Given the description of an element on the screen output the (x, y) to click on. 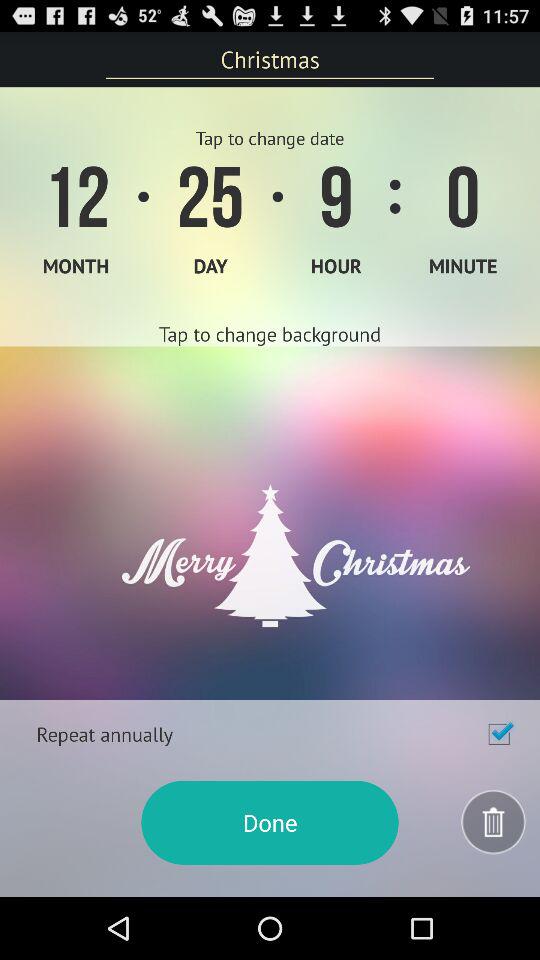
toggle repeat annually option (499, 734)
